Given the description of an element on the screen output the (x, y) to click on. 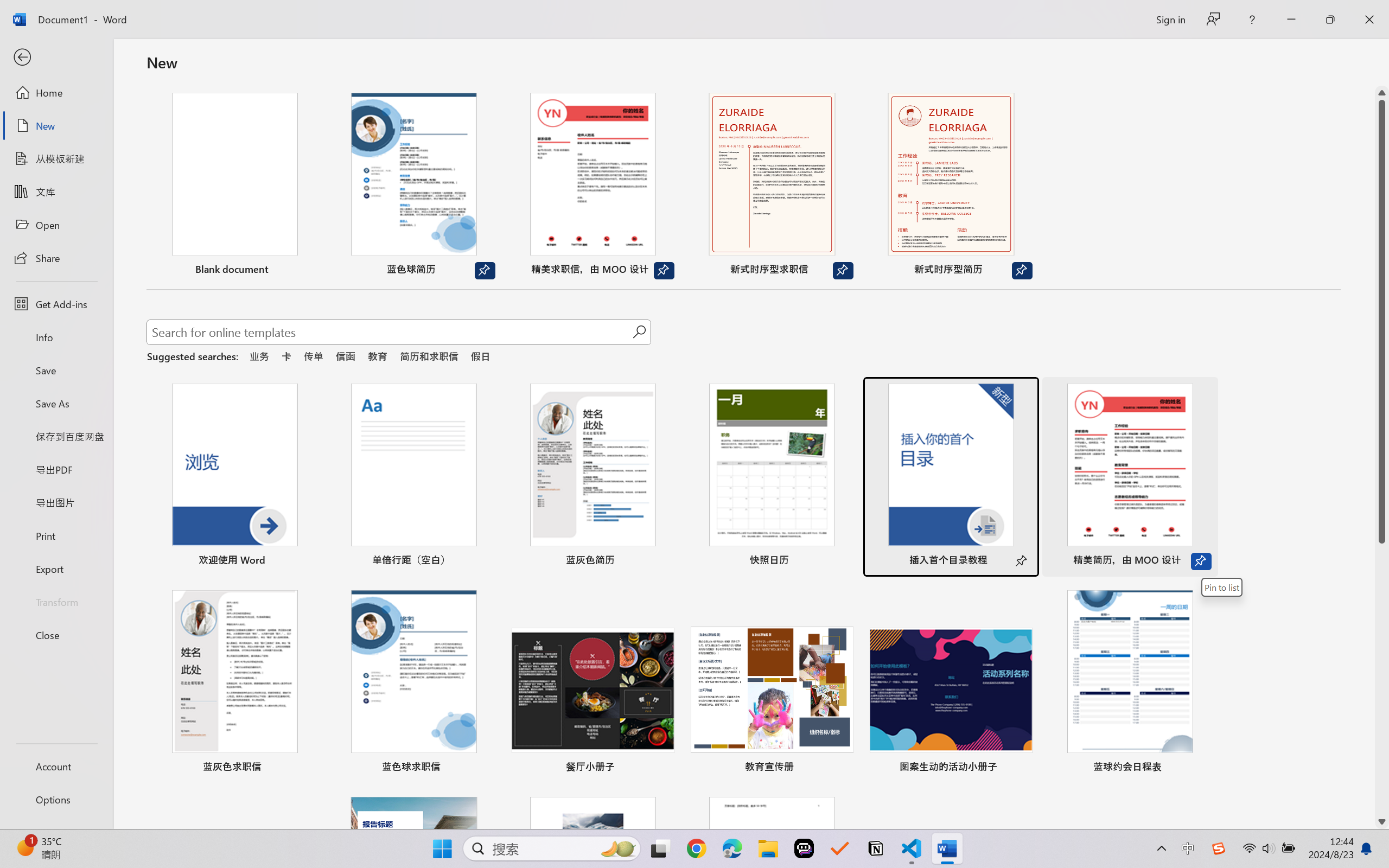
Search for online templates (389, 333)
Account (56, 765)
Info (56, 337)
